Given the description of an element on the screen output the (x, y) to click on. 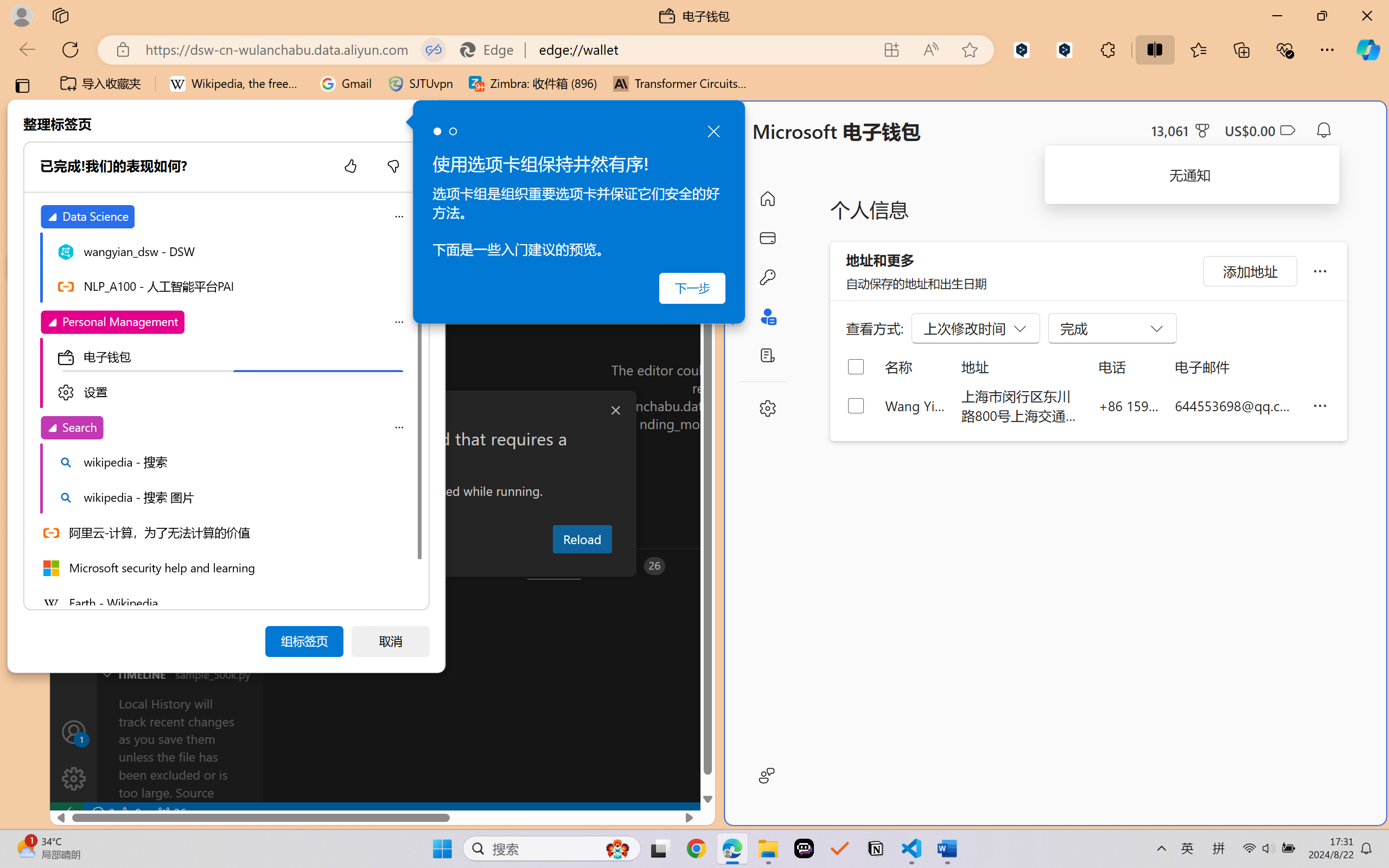
remote (66, 812)
wangyian_dsw - DSW (22, 194)
Terminal actions (1002, 565)
